Given the description of an element on the screen output the (x, y) to click on. 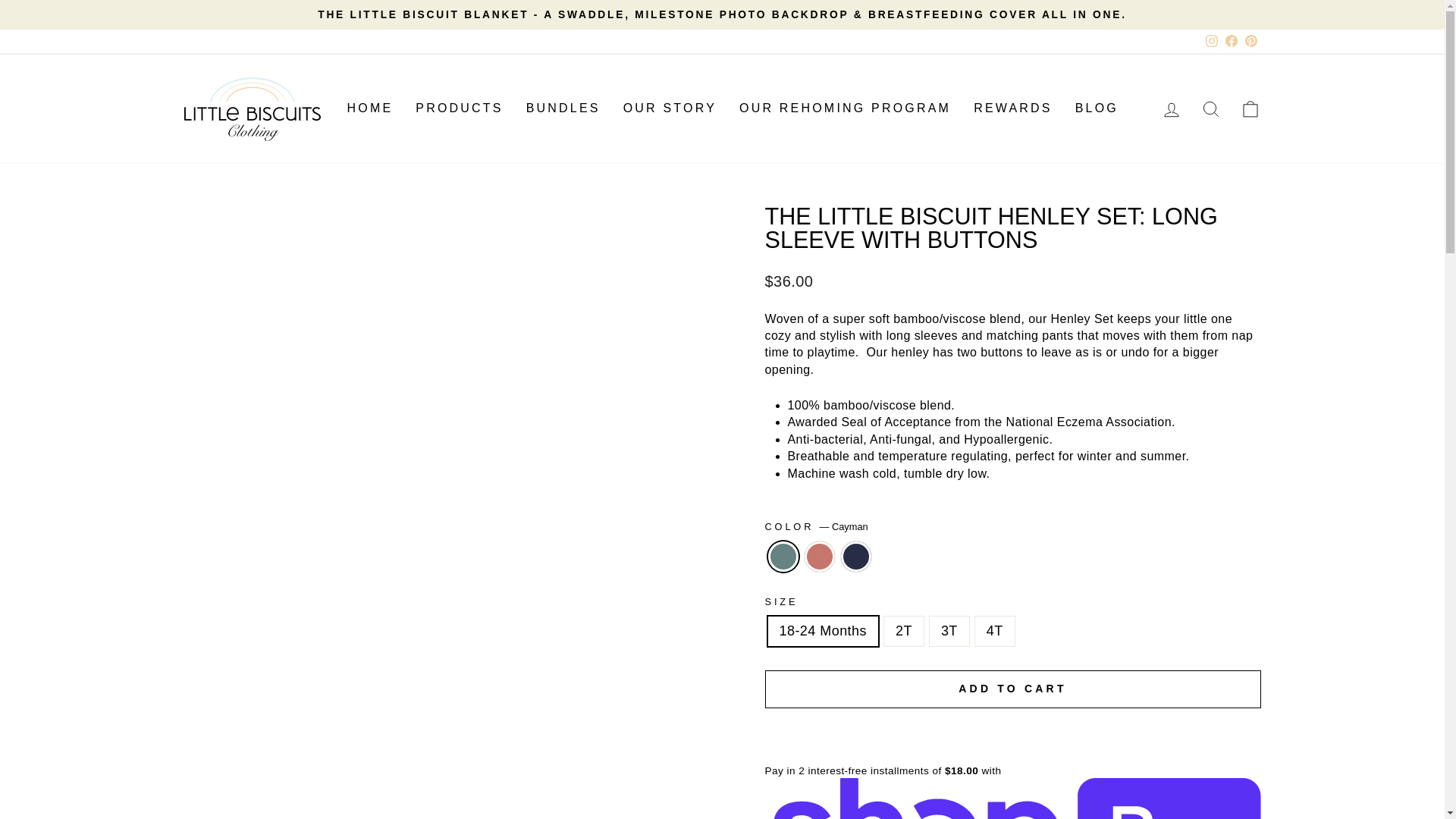
LOG IN (1171, 108)
PRODUCTS (458, 108)
CART (1249, 108)
BLOG (1096, 108)
OUR REHOMING PROGRAM (845, 108)
OUR STORY (669, 108)
SEARCH (1210, 108)
BUNDLES (563, 108)
